Given the description of an element on the screen output the (x, y) to click on. 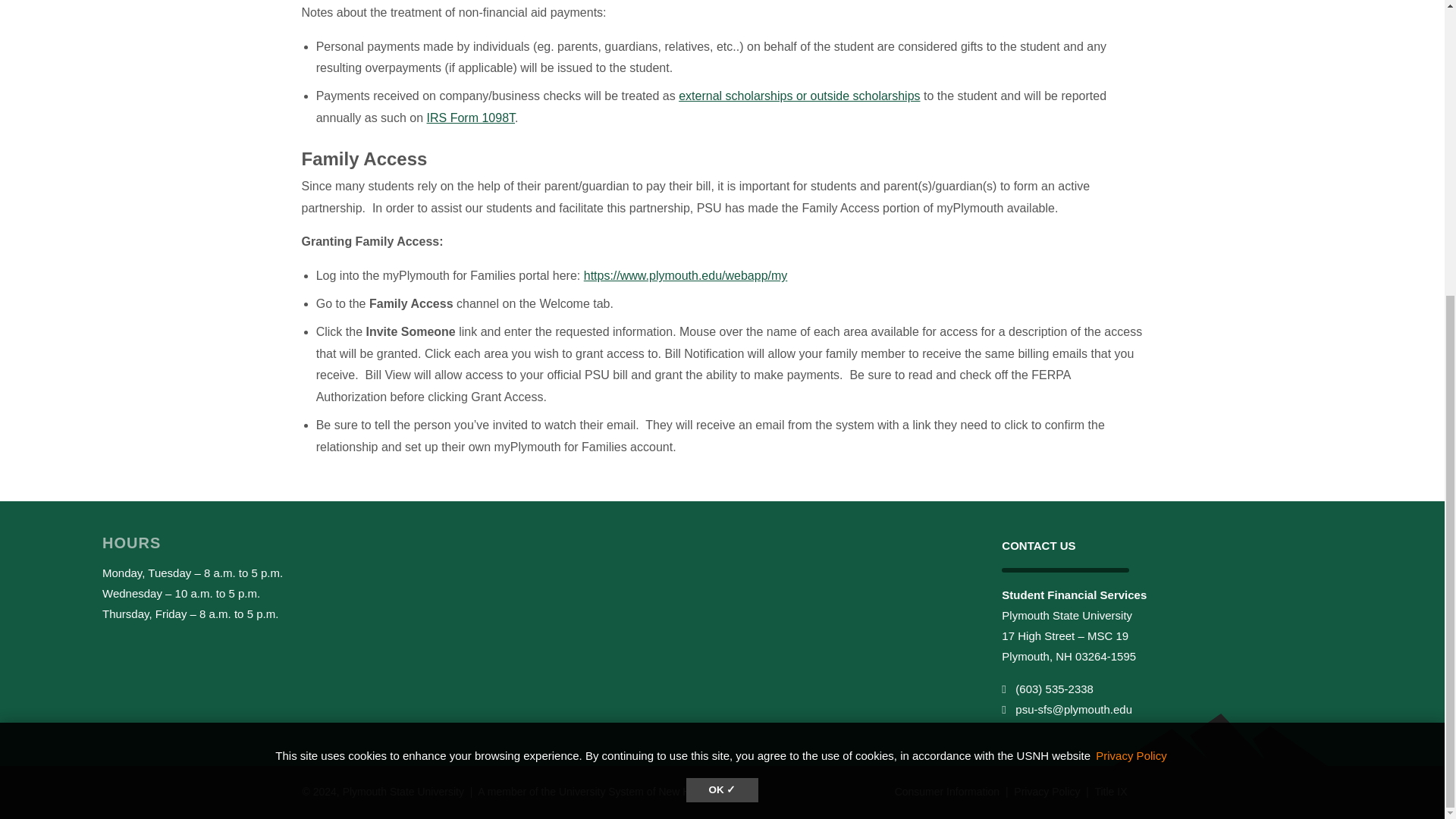
Outside Scholarships (799, 95)
Privacy Policy (1131, 301)
Student Consumer Information (947, 791)
Tax Information (470, 117)
